Given the description of an element on the screen output the (x, y) to click on. 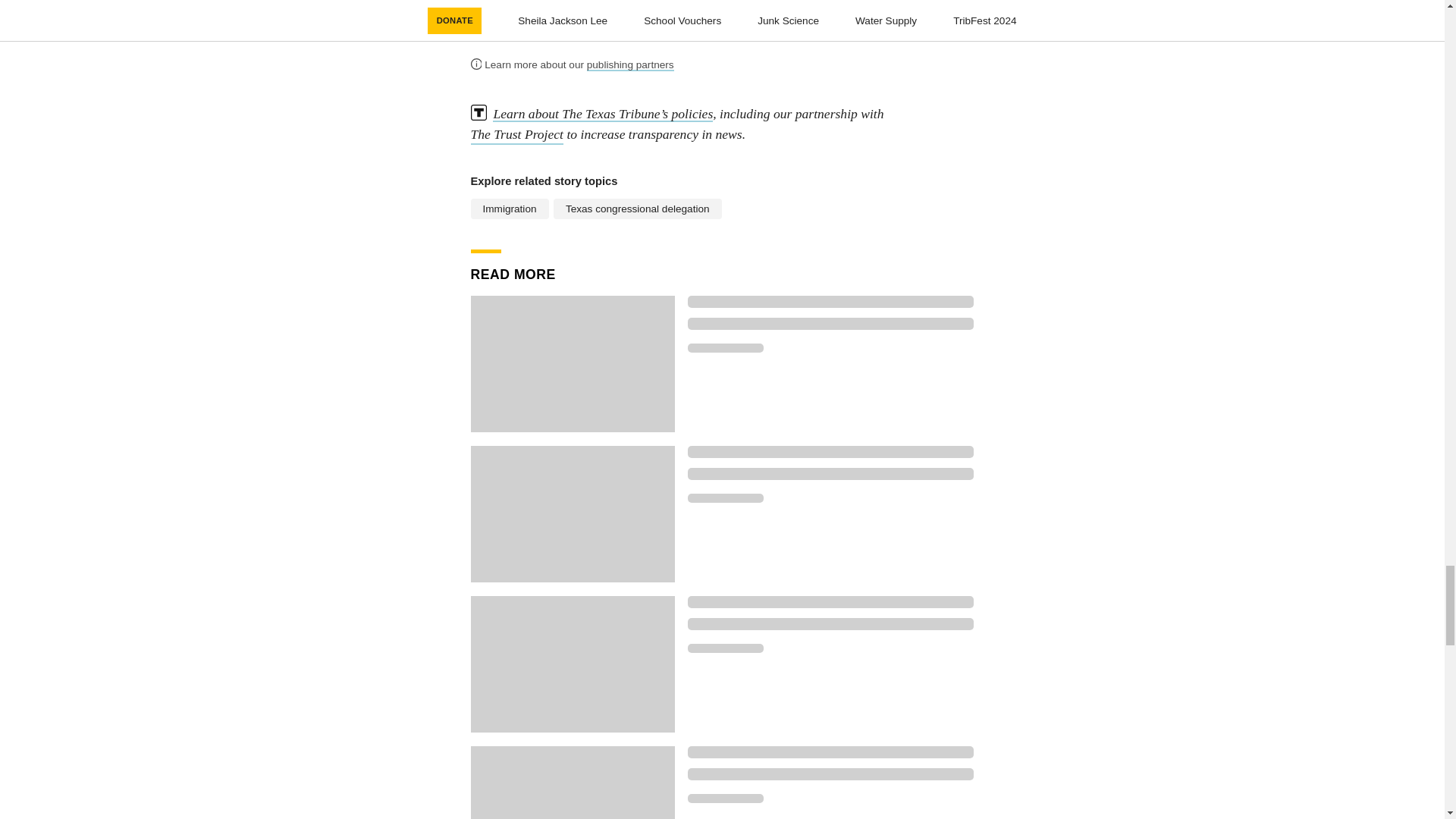
Loading indicator (724, 798)
Loading indicator (830, 623)
Loading indicator (724, 347)
Loading indicator (830, 323)
Loading indicator (830, 752)
Loading indicator (830, 301)
Loading indicator (830, 451)
Loading indicator (830, 473)
Loading indicator (830, 774)
Loading indicator (724, 647)
